Given the description of an element on the screen output the (x, y) to click on. 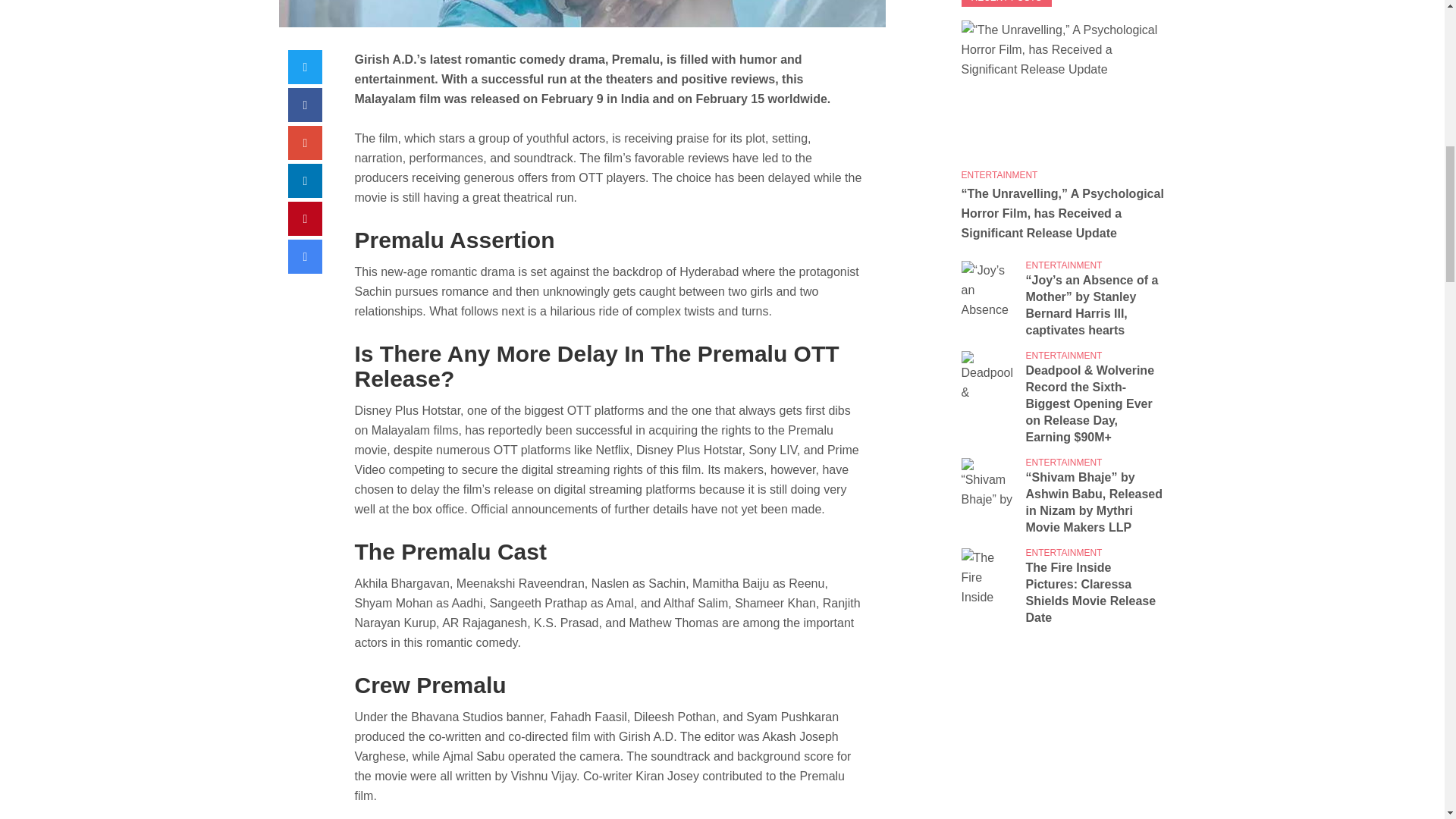
LinkedIn (304, 180)
Facebook (304, 104)
Email (304, 256)
Pinterest (304, 218)
Twitter (304, 66)
